Given the description of an element on the screen output the (x, y) to click on. 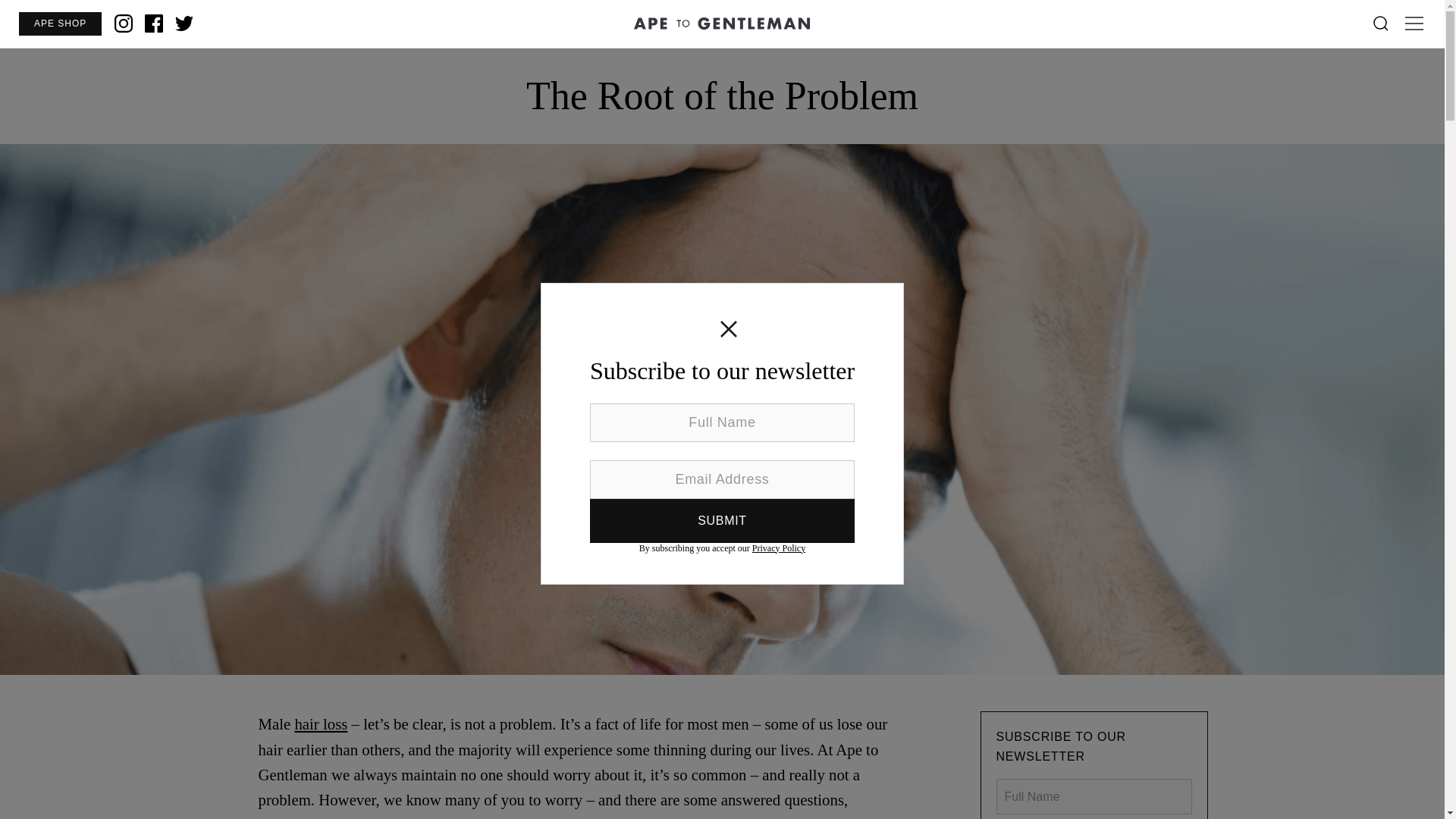
APE SHOP (59, 23)
Submit (721, 520)
Facebook (153, 23)
Instagram (123, 23)
Privacy Policy (778, 547)
hair loss (320, 723)
Submit (721, 520)
Menu (1414, 23)
Twitter (183, 23)
Search (1380, 23)
Visit Ape's Shop (59, 23)
